Given the description of an element on the screen output the (x, y) to click on. 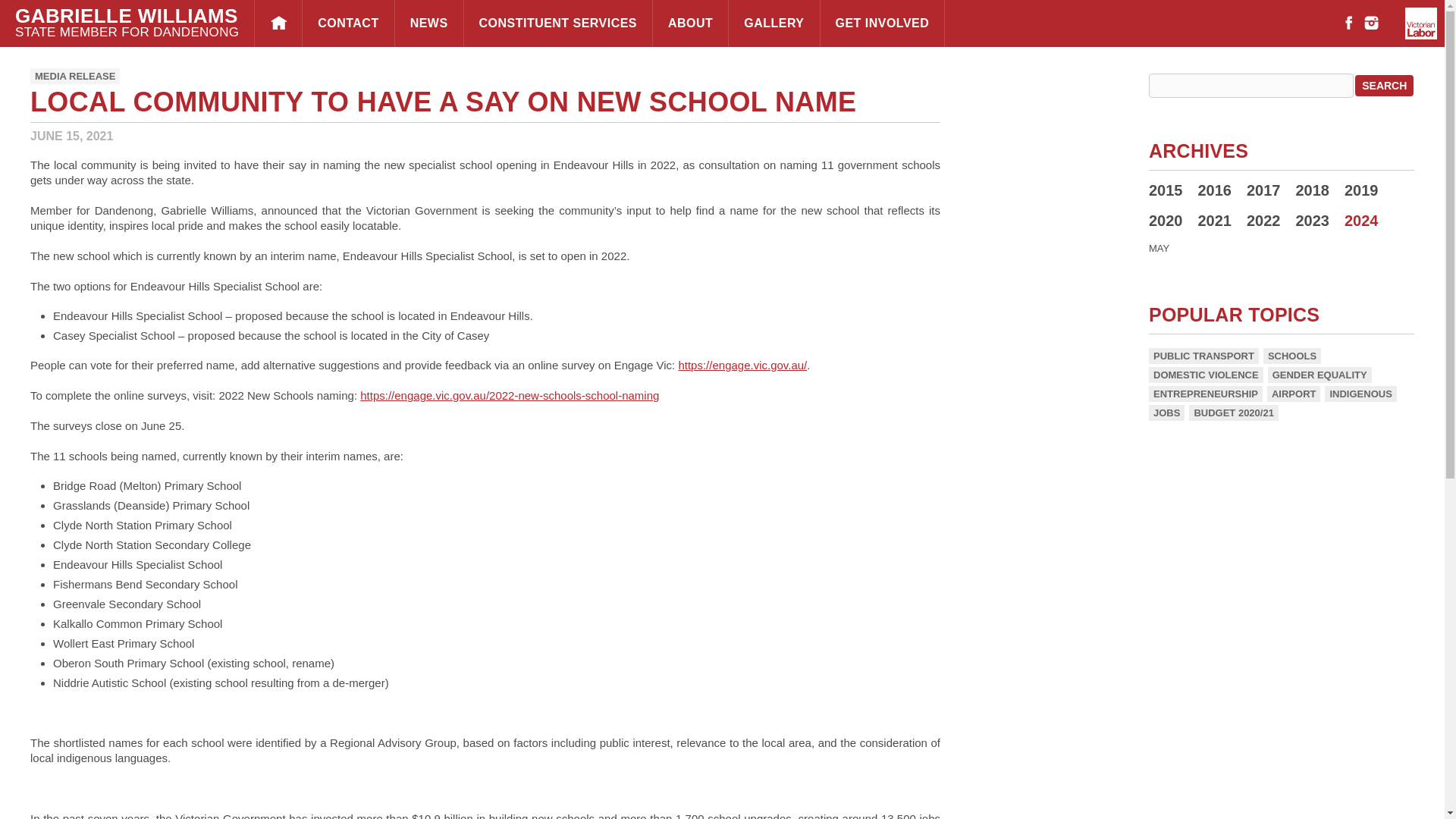
GALLERY (773, 23)
MEDIA RELEASE (74, 75)
HOME (277, 23)
2015 (1165, 190)
GET INVOLVED (882, 23)
GABRIELLE WILLIAMS (126, 15)
NEWS (428, 23)
ABOUT (690, 23)
search (1384, 85)
search (1384, 85)
STATE MEMBER FOR DANDENONG (126, 31)
CONTACT (347, 23)
search (1384, 85)
CONSTITUENT SERVICES (558, 23)
2016 (1214, 190)
